Given the description of an element on the screen output the (x, y) to click on. 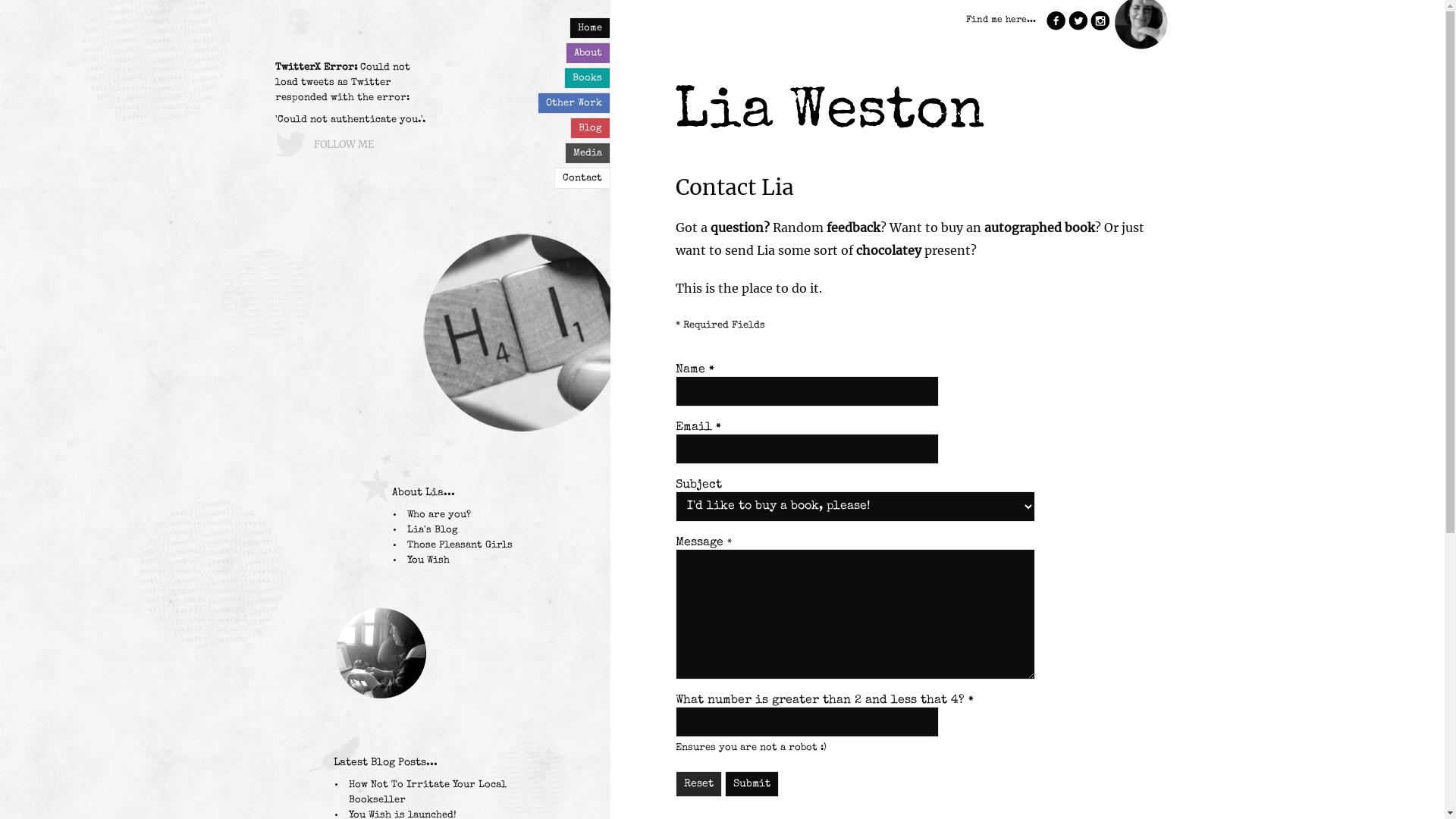
Who are you? Element type: text (438, 515)
Lia's other work Element type: hover (333, 753)
FOLLOW ME Element type: text (343, 144)
Follow Lia on Instagram Element type: hover (1099, 20)
  Element type: text (1077, 20)
Lia's Blog Element type: text (432, 530)
Home Element type: text (589, 27)
Media Element type: text (587, 152)
home Element type: hover (1140, 44)
Books Element type: text (587, 77)
  Element type: text (1099, 20)
  Element type: text (333, 753)
Follow Lia on facebook Element type: hover (1055, 20)
Submit Element type: text (751, 784)
Those Pleasant Girls Element type: text (459, 545)
Other Work Element type: text (573, 102)
Find out more about Lia Element type: hover (385, 477)
Follow Lia on twitter Element type: hover (275, 67)
You Wish Element type: text (428, 560)
About Element type: text (587, 52)
Latest Blog Posts... Element type: text (385, 762)
About Lia... Element type: text (423, 492)
Follow Lia on twitter Element type: hover (1077, 20)
Blog Element type: text (590, 127)
Menu Element type: text (11, 11)
  Element type: text (1055, 20)
  Element type: text (385, 477)
How Not To Irritate Your Local Bookseller Element type: text (427, 792)
  Element type: text (275, 67)
Contact Element type: text (582, 177)
